Given the description of an element on the screen output the (x, y) to click on. 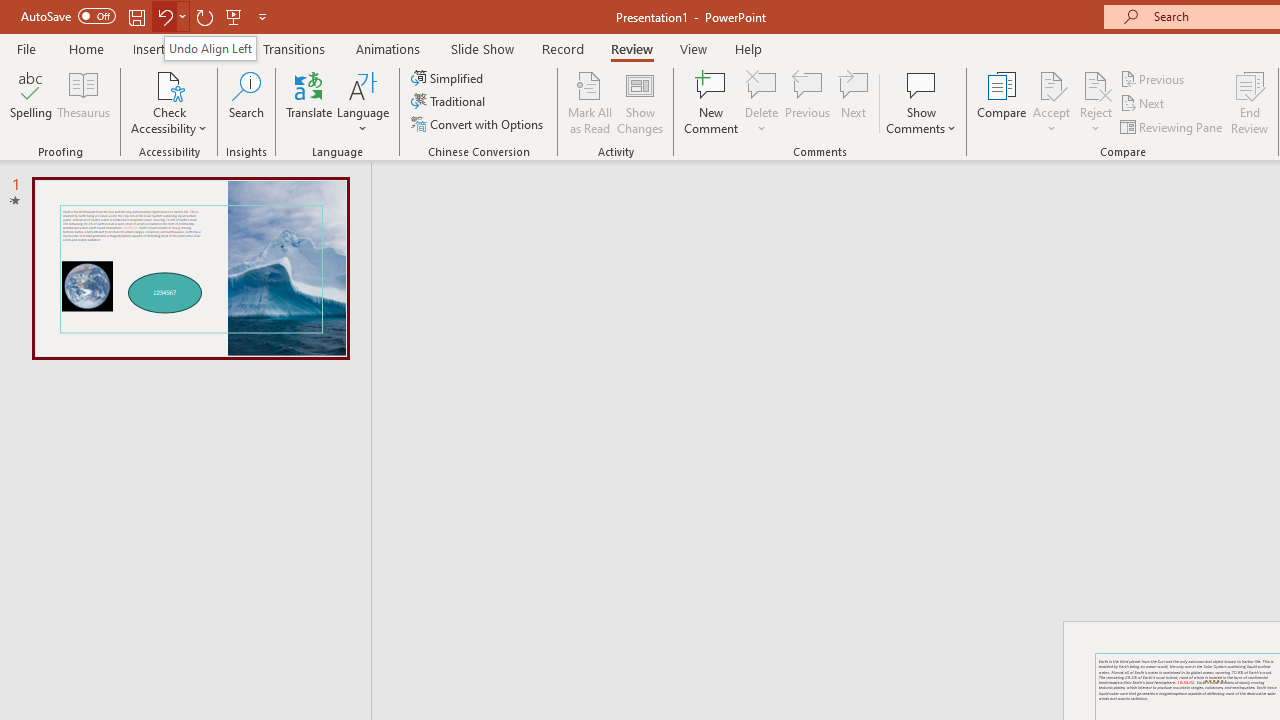
Convert with Options... (479, 124)
Next (1144, 103)
Show Changes (639, 102)
Delete (762, 102)
Traditional (449, 101)
Check Accessibility (169, 102)
New Comment (711, 102)
Translate (309, 102)
Show Comments (921, 84)
Simplified (449, 78)
